Given the description of an element on the screen output the (x, y) to click on. 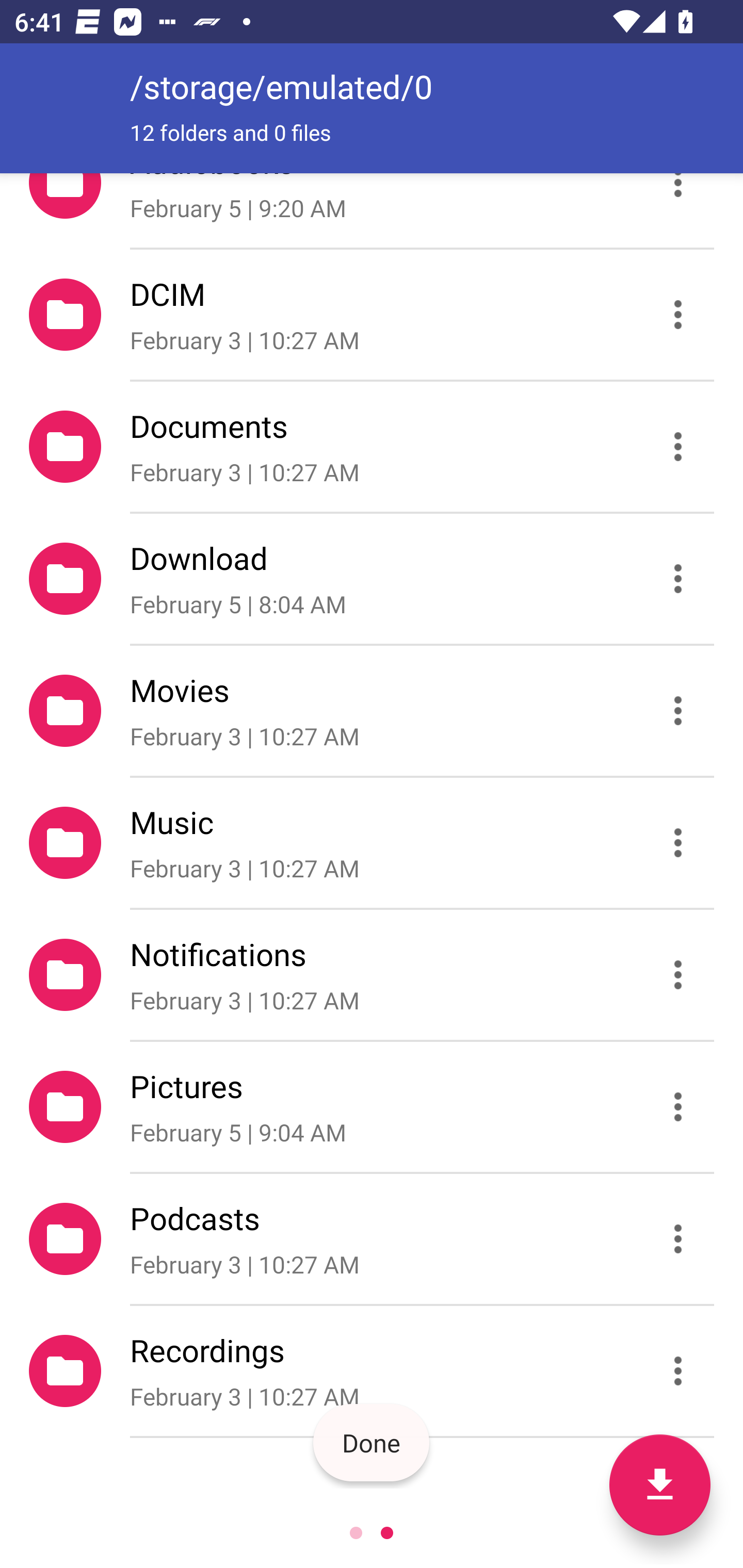
DCIM February 3 | 10:27 AM (371, 314)
Documents February 3 | 10:27 AM (371, 446)
Download February 5 | 8:04 AM (371, 579)
Movies February 3 | 10:27 AM (371, 711)
Music February 3 | 10:27 AM (371, 842)
Notifications February 3 | 10:27 AM (371, 974)
Pictures February 5 | 9:04 AM (371, 1106)
Podcasts February 3 | 10:27 AM (371, 1239)
Recordings February 3 | 10:27 AM (371, 1371)
